Given the description of an element on the screen output the (x, y) to click on. 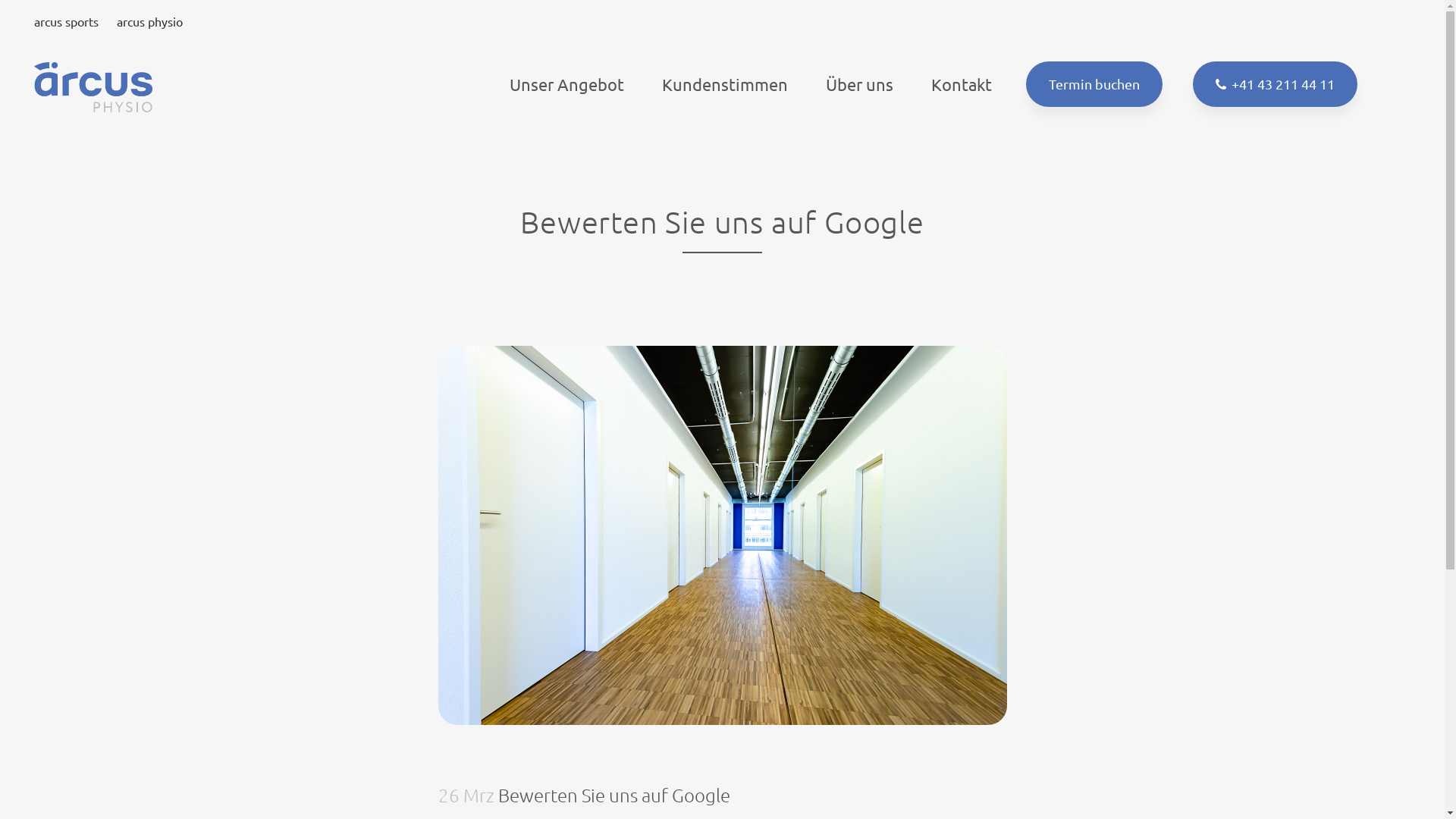
Kontakt Element type: text (961, 83)
arcus sports Element type: text (66, 20)
+41 43 211 44 11 Element type: text (1274, 83)
Unser Angebot Element type: text (566, 83)
arcus physio Element type: text (149, 20)
Termin buchen Element type: text (1093, 83)
Kundenstimmen Element type: text (724, 83)
